Given the description of an element on the screen output the (x, y) to click on. 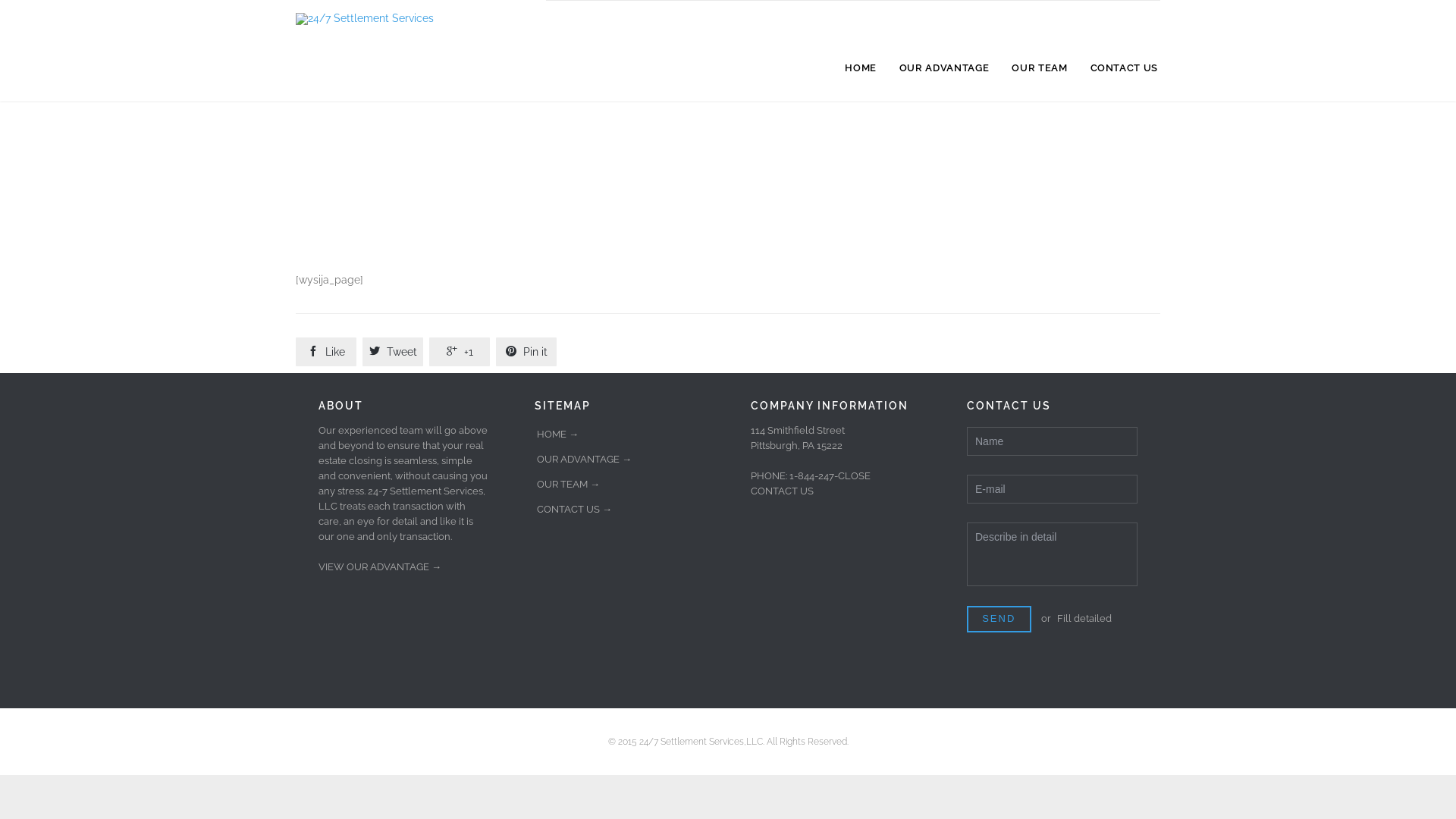
SEND Element type: text (998, 618)
24/7 Settlement Services Element type: hover (420, 18)
OUR ADVANTAGE Element type: text (943, 68)
Fill detailed Element type: text (1084, 618)
OUR TEAM Element type: text (1038, 68)
CONTACT US Element type: text (781, 490)
HOME Element type: text (860, 68)
Skip to content Element type: text (1168, 15)
CONTACT US Element type: text (1124, 68)
